Given the description of an element on the screen output the (x, y) to click on. 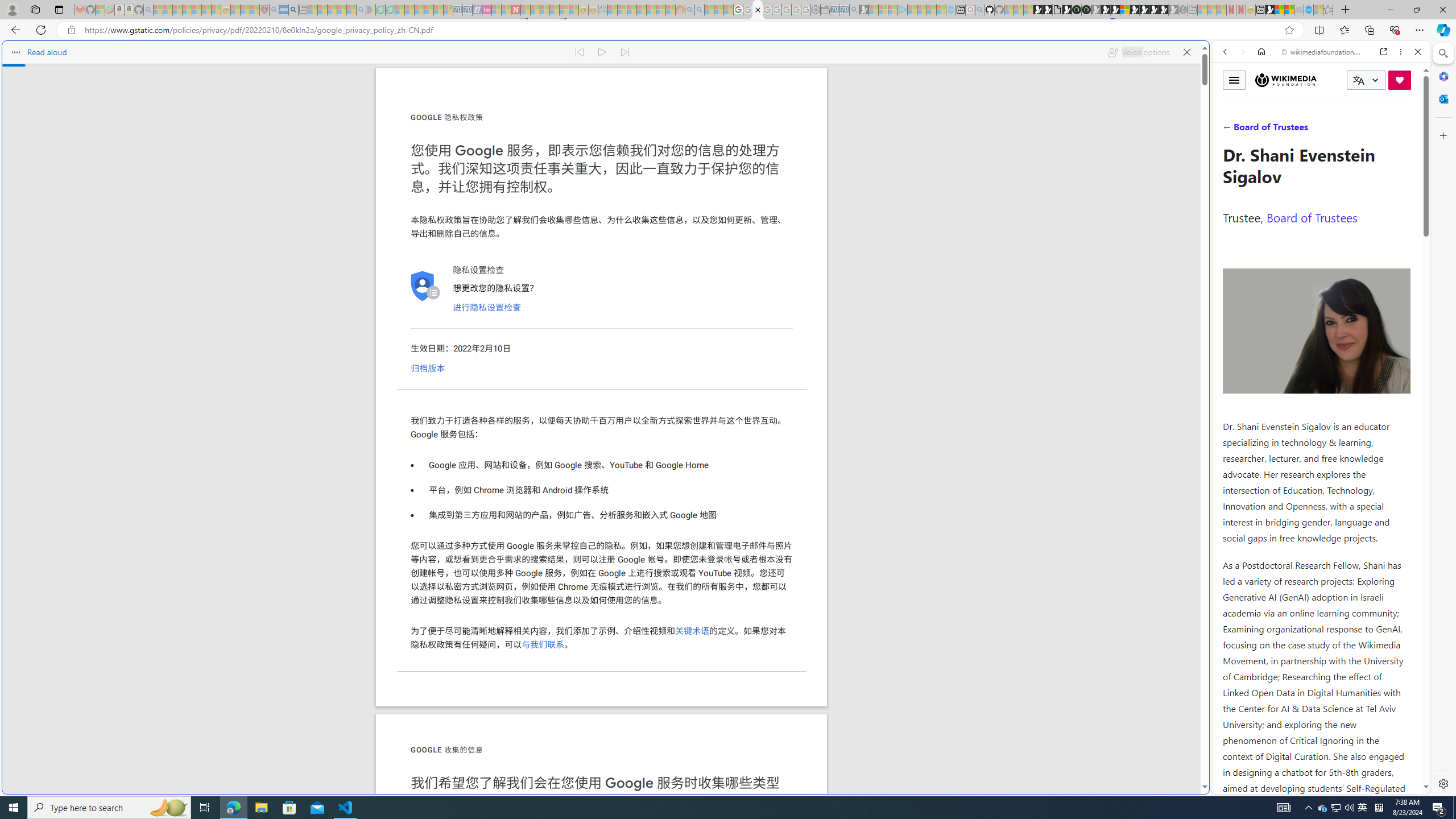
View site information (70, 29)
App bar (728, 29)
The Weather Channel - MSN - Sleeping (177, 9)
google - Search - Sleeping (360, 9)
Split screen (1318, 29)
More options (1401, 51)
Frequently visited (965, 151)
Search Filter, VIDEOS (1300, 129)
utah sues federal government - Search (922, 389)
Microsoft-Report a Concern to Bing - Sleeping (99, 9)
